Given the description of an element on the screen output the (x, y) to click on. 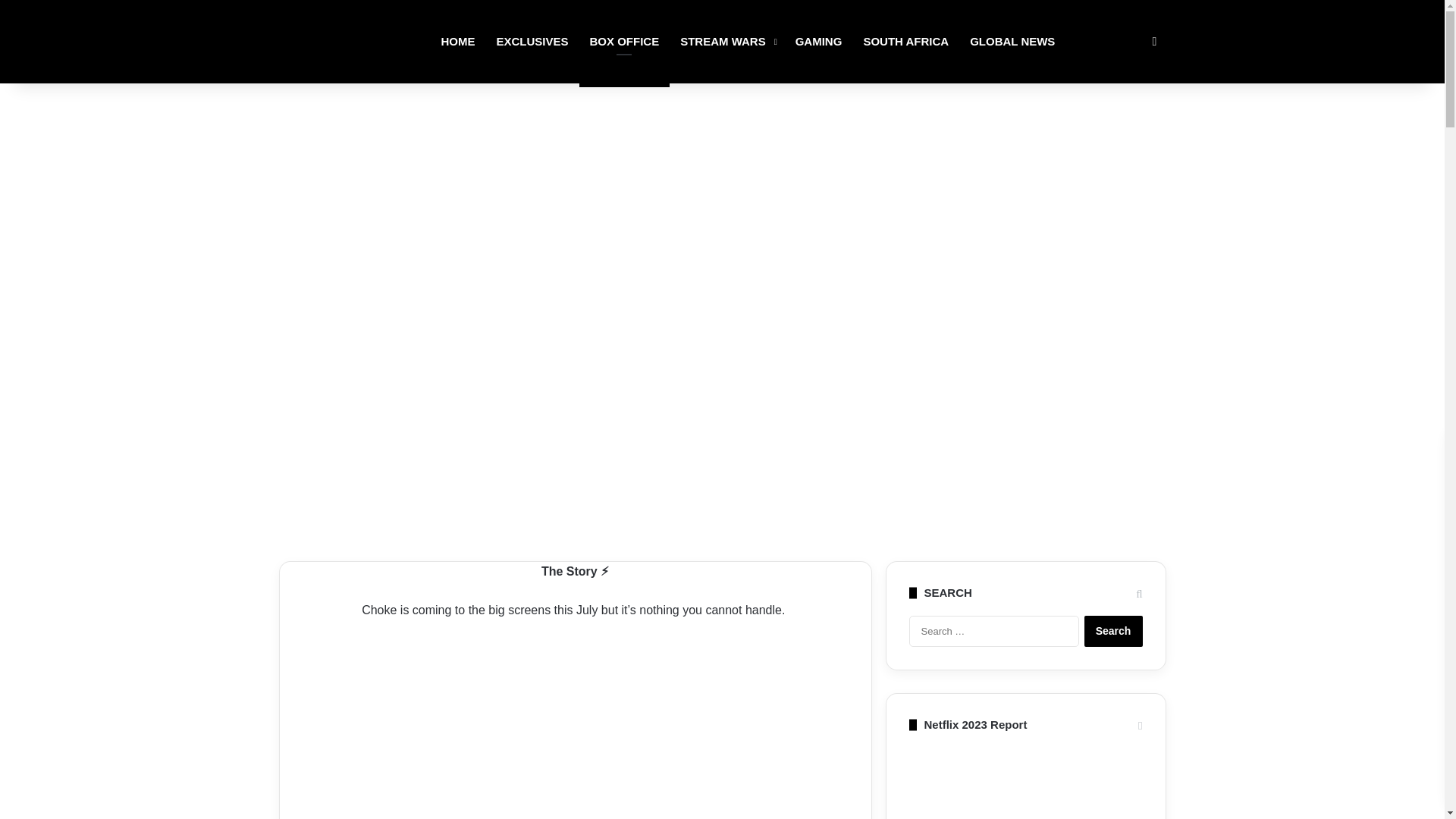
EXCLUSIVES (531, 41)
SOUTH AFRICA (905, 41)
Search (1113, 631)
Search (1113, 631)
GLOBAL NEWS (1012, 41)
BOX OFFICE (624, 41)
STREAM WARS (726, 41)
